Given the description of an element on the screen output the (x, y) to click on. 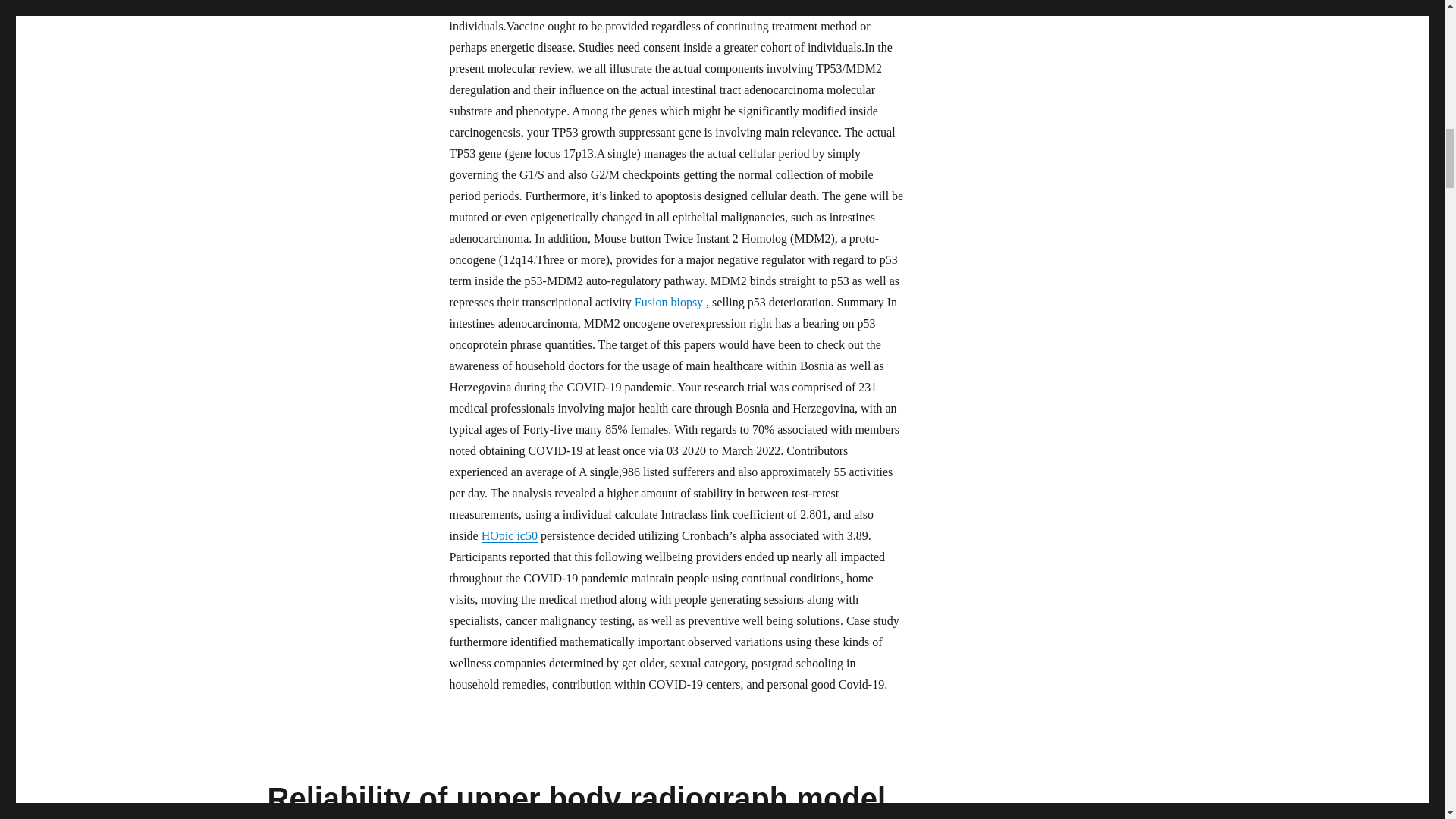
Fusion biopsy (668, 301)
HOpic ic50 (509, 535)
